Given the description of an element on the screen output the (x, y) to click on. 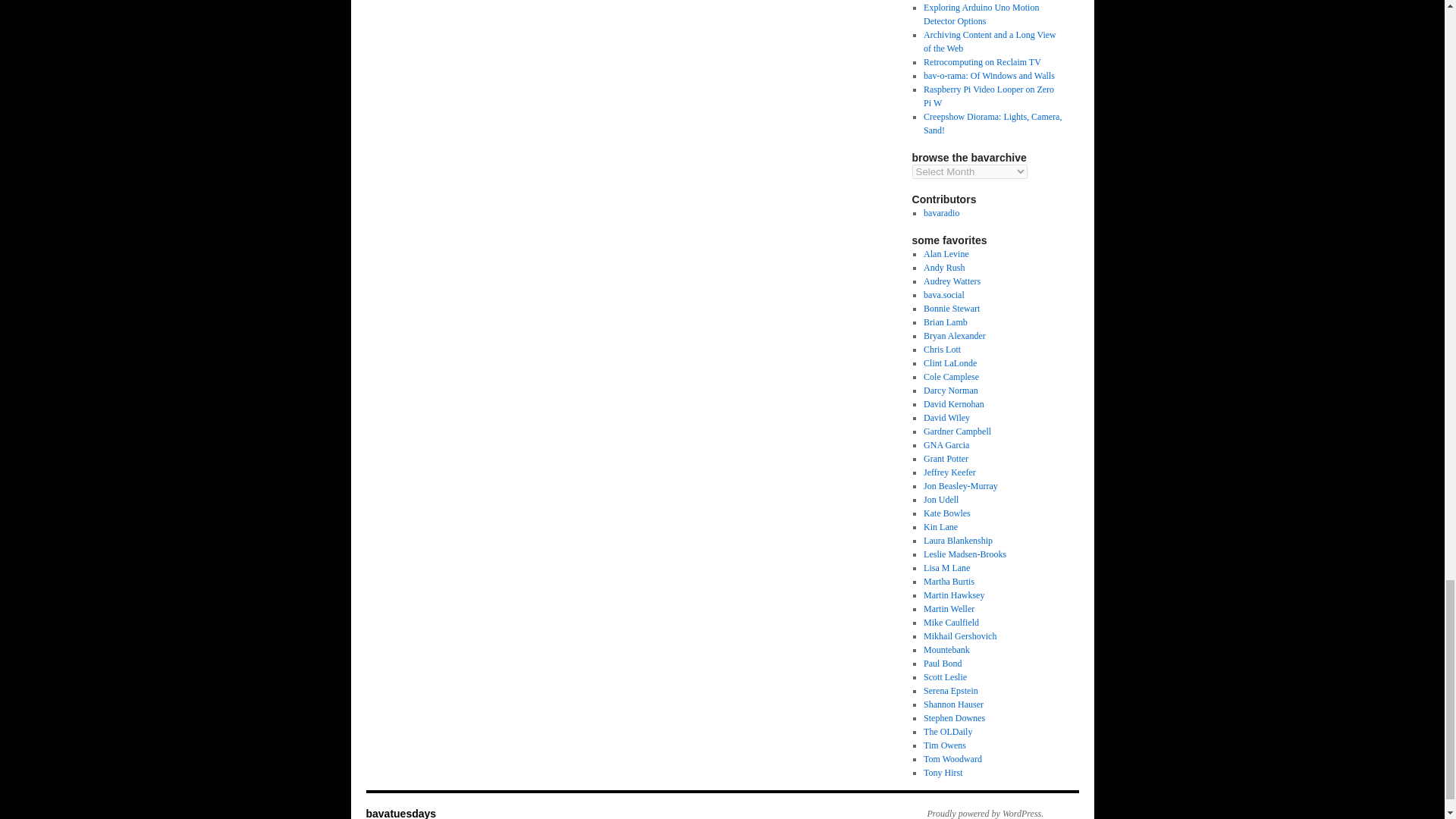
bava on the radio (941, 213)
Lauren Blankenship lays it down (957, 540)
